Given the description of an element on the screen output the (x, y) to click on. 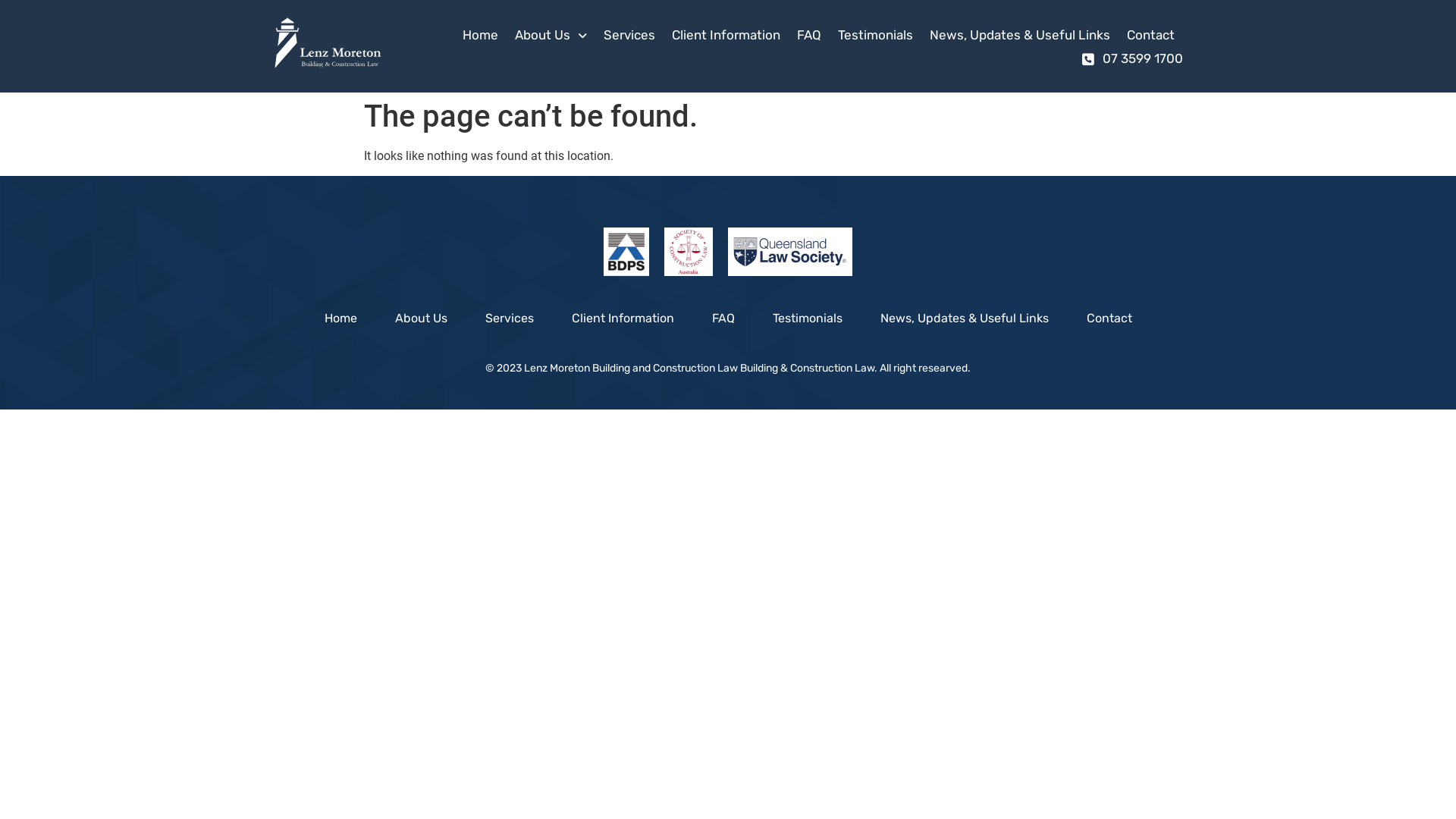
FAQ Element type: text (808, 34)
FAQ Element type: text (723, 318)
News, Updates & Useful Links Element type: text (1019, 34)
Contact Element type: text (1109, 318)
Testimonials Element type: text (807, 318)
07 3599 1700 Element type: text (1132, 58)
Client Information Element type: text (622, 318)
About Us Element type: text (421, 318)
Home Element type: text (339, 318)
Contact Element type: text (1150, 34)
Services Element type: text (508, 318)
News, Updates & Useful Links Element type: text (964, 318)
Client Information Element type: text (725, 34)
About Us Element type: text (550, 34)
Home Element type: text (480, 34)
Services Element type: text (629, 34)
Testimonials Element type: text (875, 34)
